Given the description of an element on the screen output the (x, y) to click on. 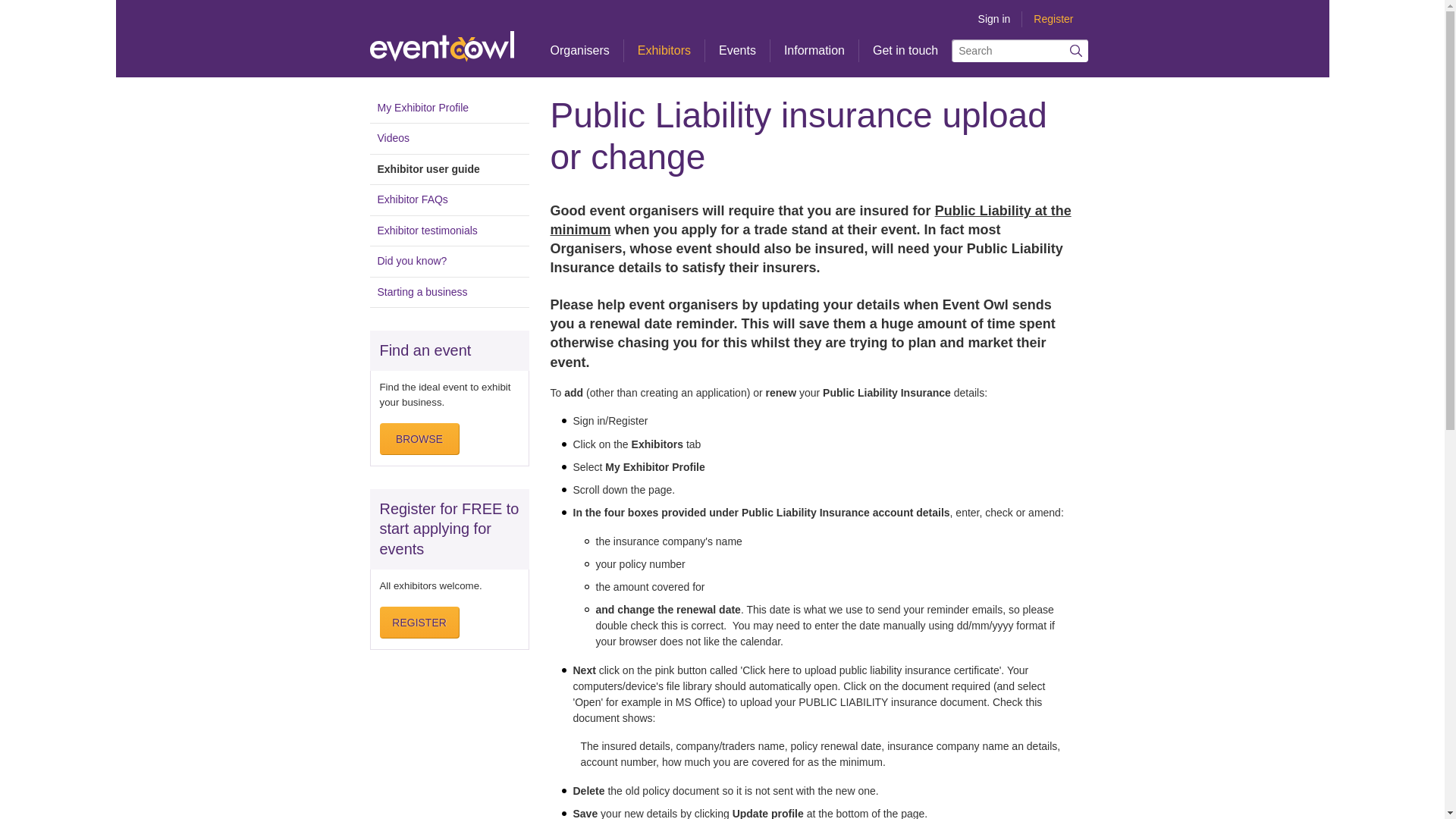
Organisers (580, 57)
Exhibitor user guide (449, 168)
Information (814, 57)
My Exhibitor Profile (449, 110)
Search (1076, 50)
REGISTER (418, 622)
Exhibitor testimonials (449, 230)
Videos (449, 137)
Exhibitors (663, 57)
Get in touch (905, 57)
Register (1053, 19)
Sign in (994, 19)
Did you know? (449, 260)
